Given the description of an element on the screen output the (x, y) to click on. 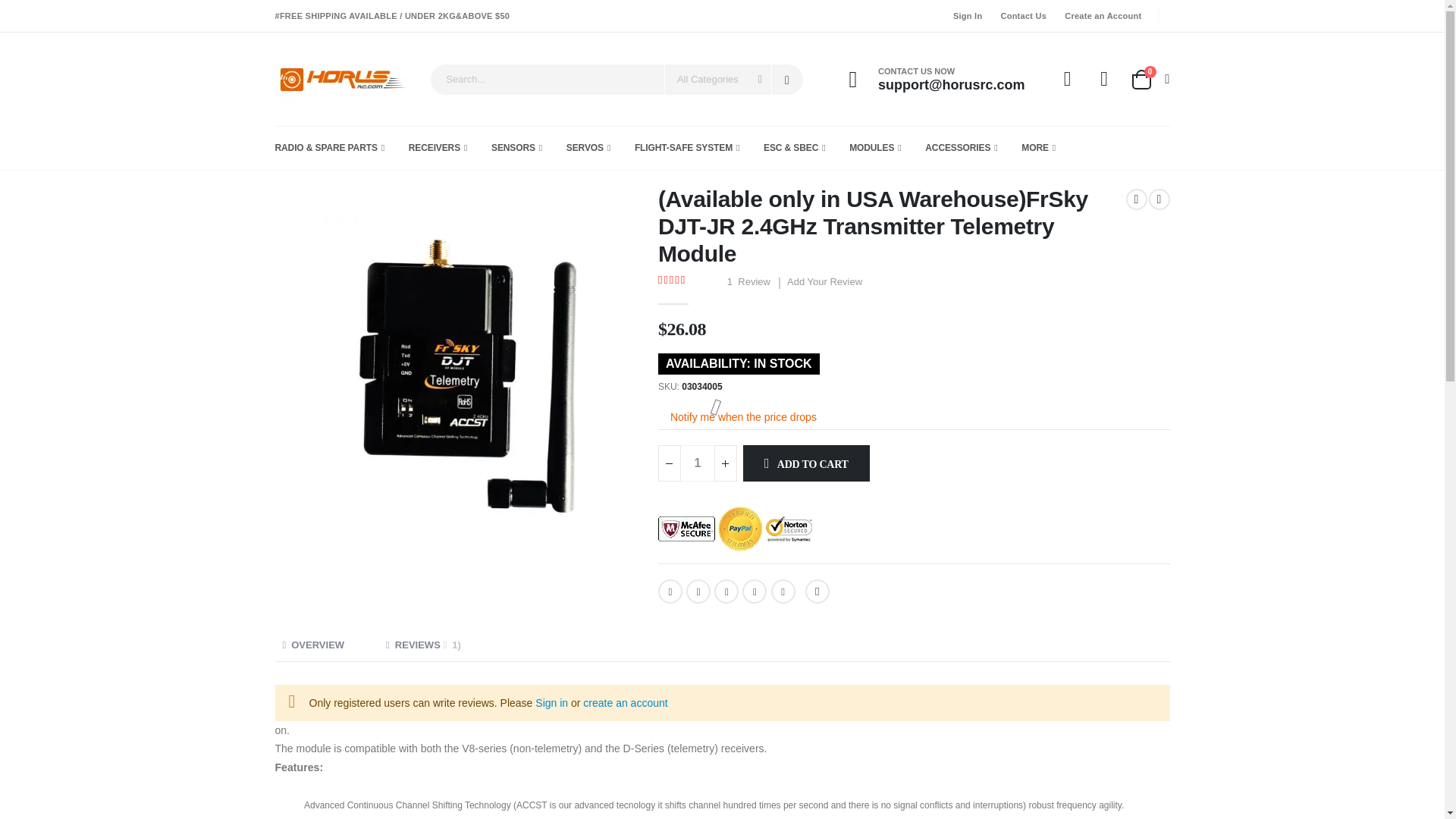
Wishlist (1104, 78)
My Account (1149, 79)
RECEIVERS (1067, 78)
Receivers (438, 147)
Contact Us (438, 147)
Sign In (1020, 15)
Search (964, 15)
HorusRC.Com (787, 79)
SENSORS (342, 79)
Create an Account (516, 147)
1 (1099, 15)
